Given the description of an element on the screen output the (x, y) to click on. 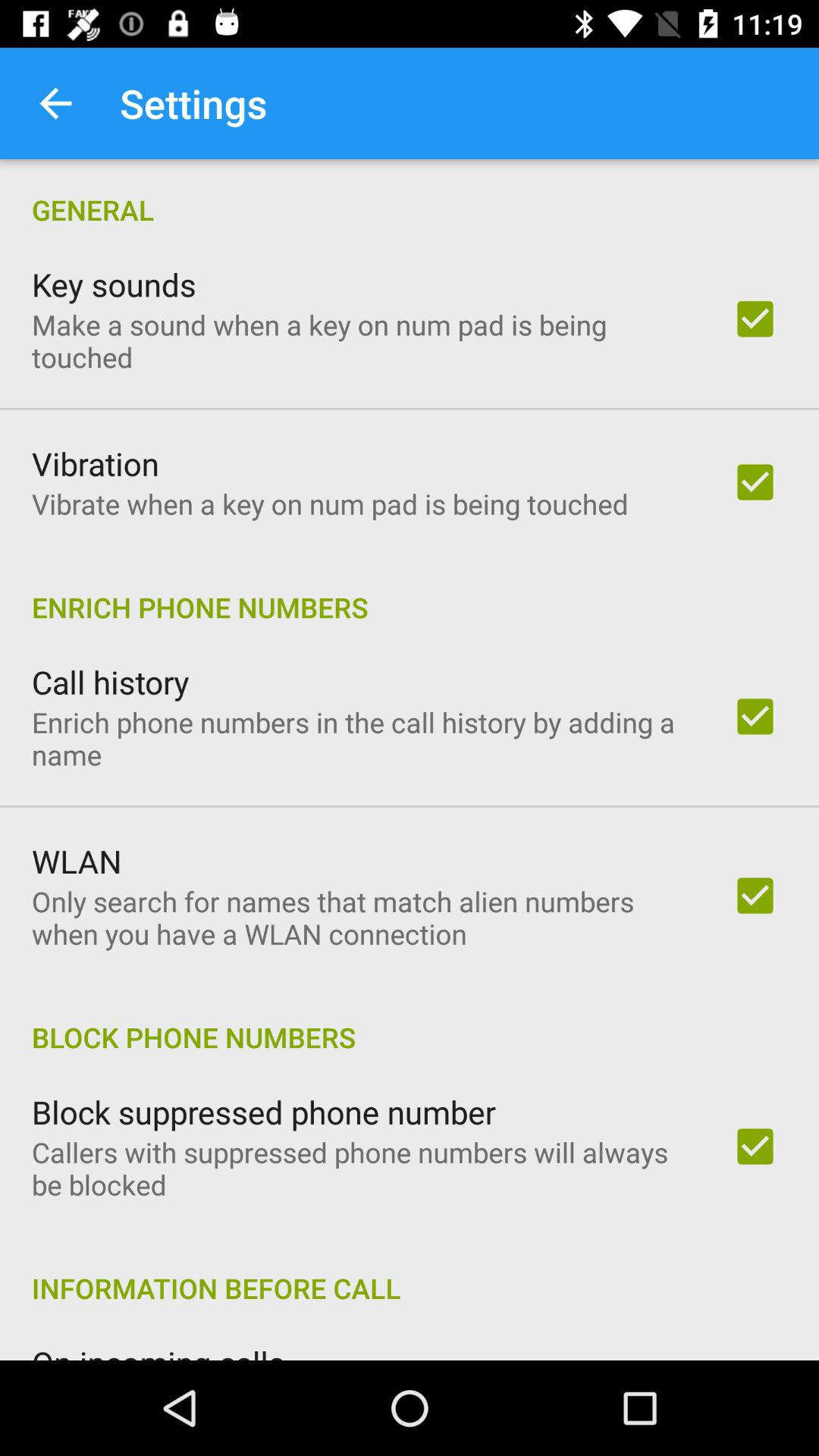
open the item below key sounds (361, 340)
